Given the description of an element on the screen output the (x, y) to click on. 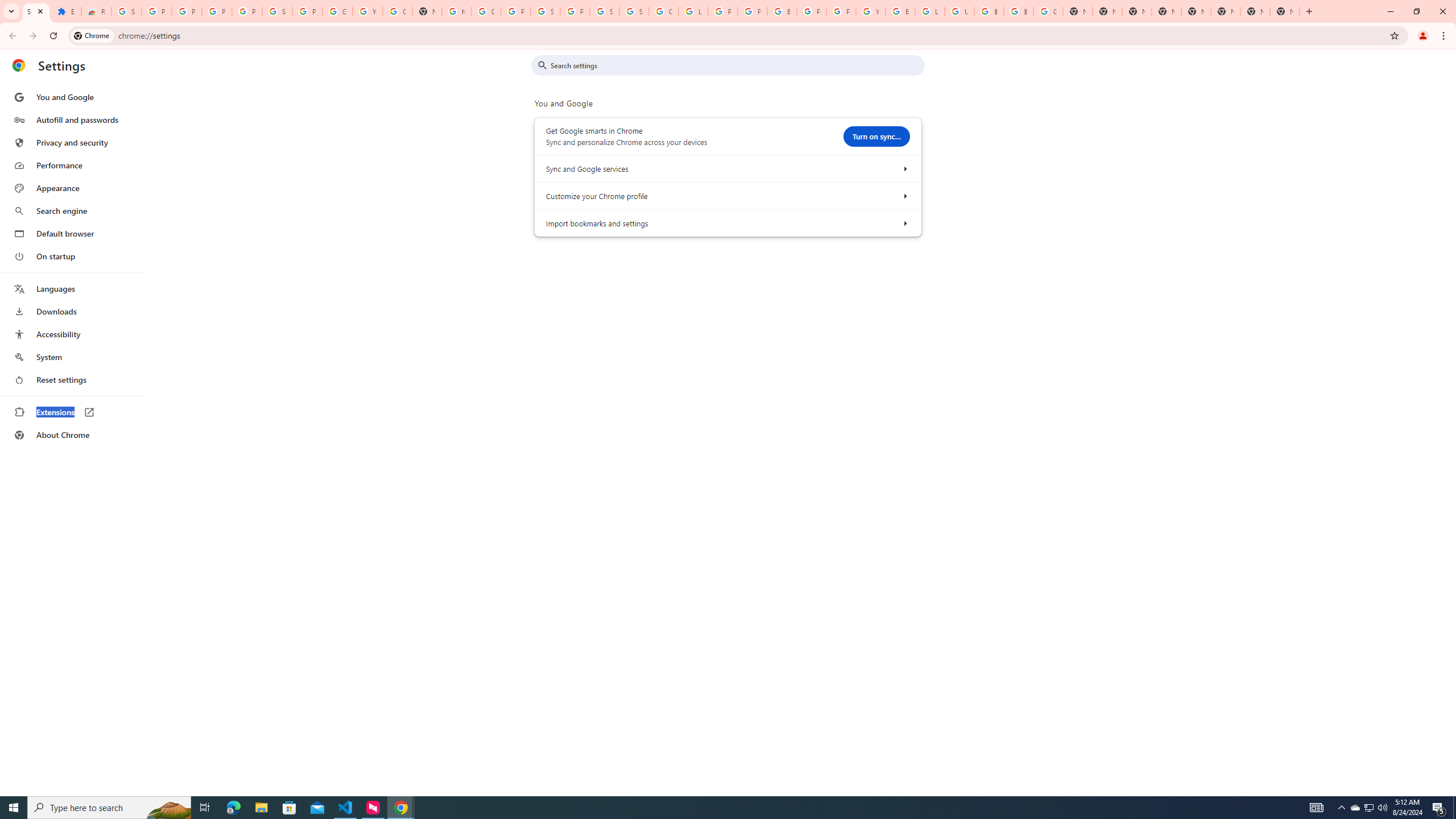
You and Google (70, 96)
Extensions (65, 11)
New Tab (1224, 11)
Reset settings (70, 379)
Languages (70, 288)
Search settings (735, 65)
Import bookmarks and settings (904, 222)
